Given the description of an element on the screen output the (x, y) to click on. 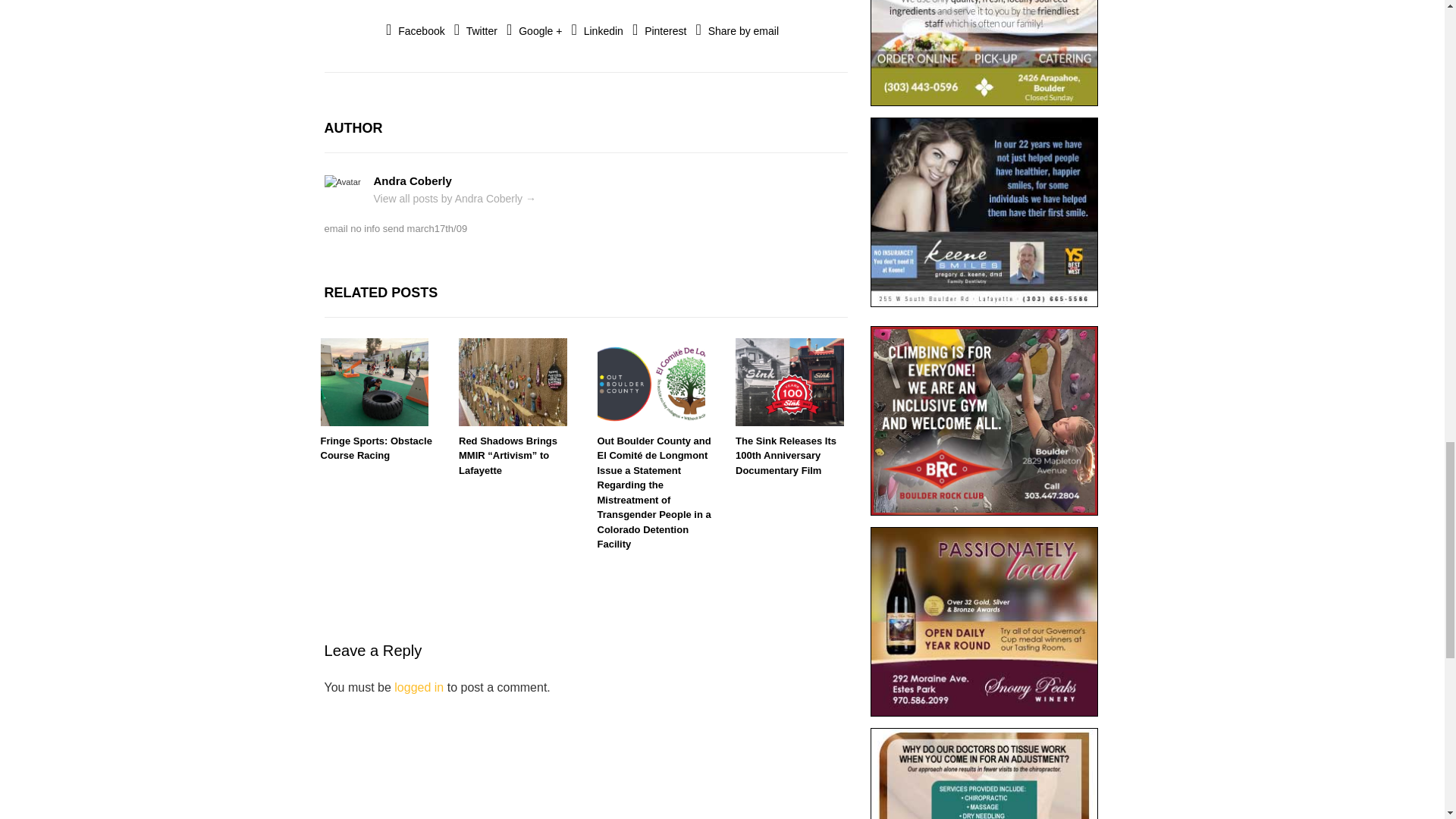
Share by email (736, 30)
Share this post on Linkedin! (597, 30)
Share this post on Facebook! (415, 30)
Share on Pinterest (658, 30)
Share this post on Twitter! (475, 30)
Share this post on Google Plus! (534, 30)
